Given the description of an element on the screen output the (x, y) to click on. 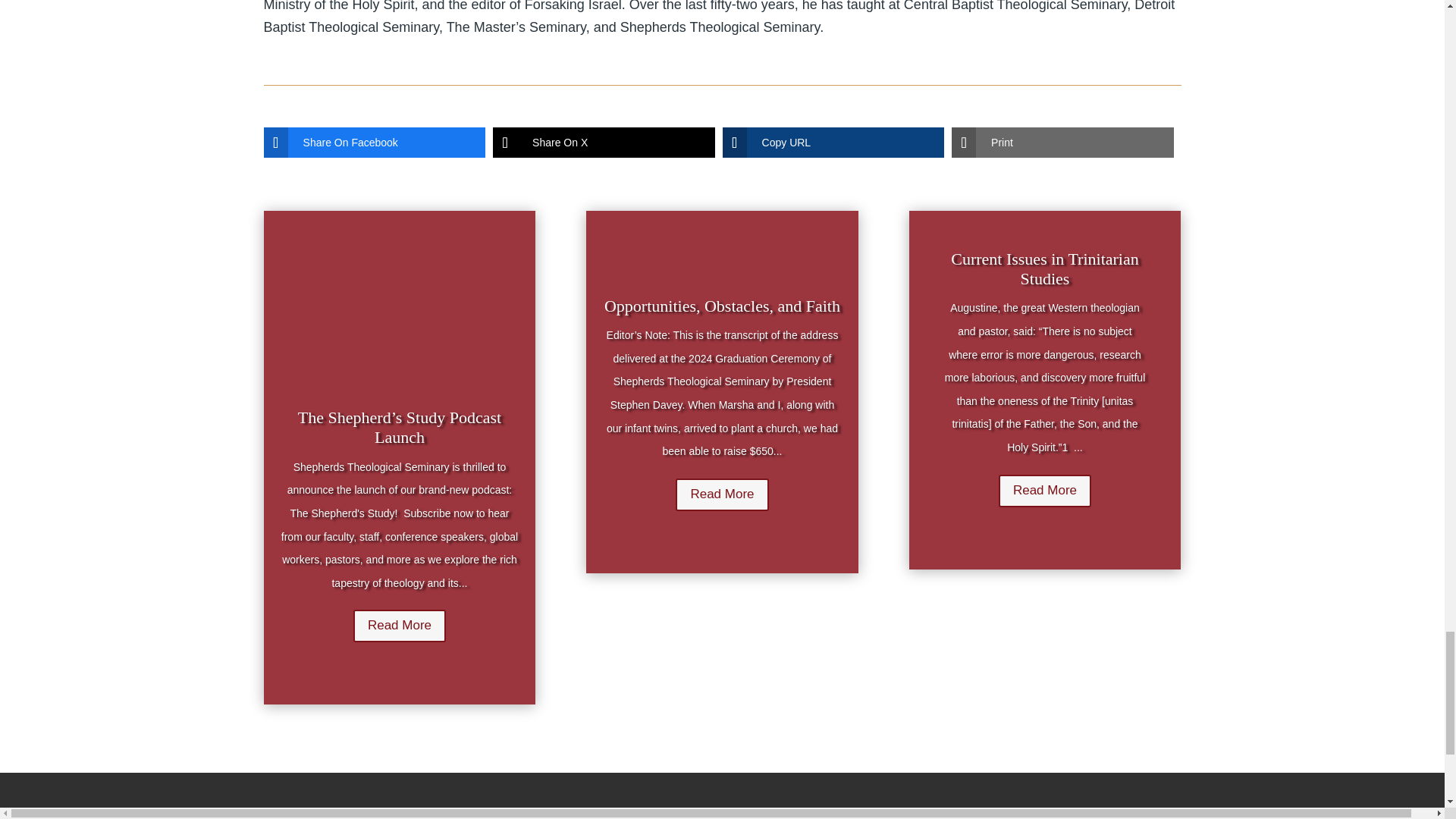
Follow on Instagram (572, 813)
Follow on Facebook (542, 813)
Follow on X (512, 813)
Shepherds Theological Seminary (325, 813)
